Given the description of an element on the screen output the (x, y) to click on. 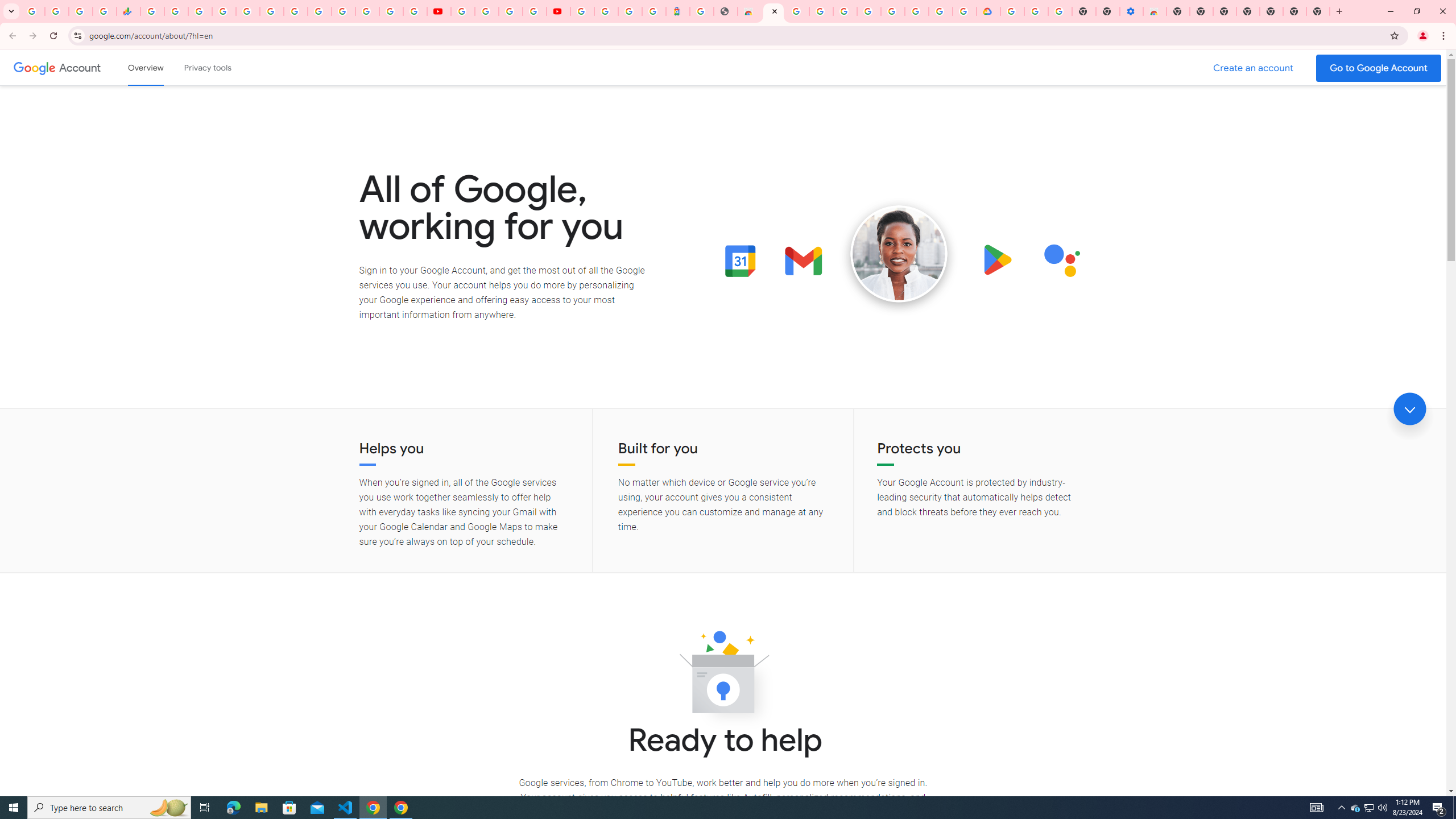
Chrome Web Store - Household (749, 11)
Ready to help (722, 675)
Google Account (80, 67)
Sign in - Google Accounts (844, 11)
Privacy Checkup (414, 11)
Google Account Help (868, 11)
Sign in - Google Accounts (1012, 11)
YouTube (319, 11)
Chrome Web Store - Accessibility extensions (1155, 11)
YouTube (462, 11)
